Given the description of an element on the screen output the (x, y) to click on. 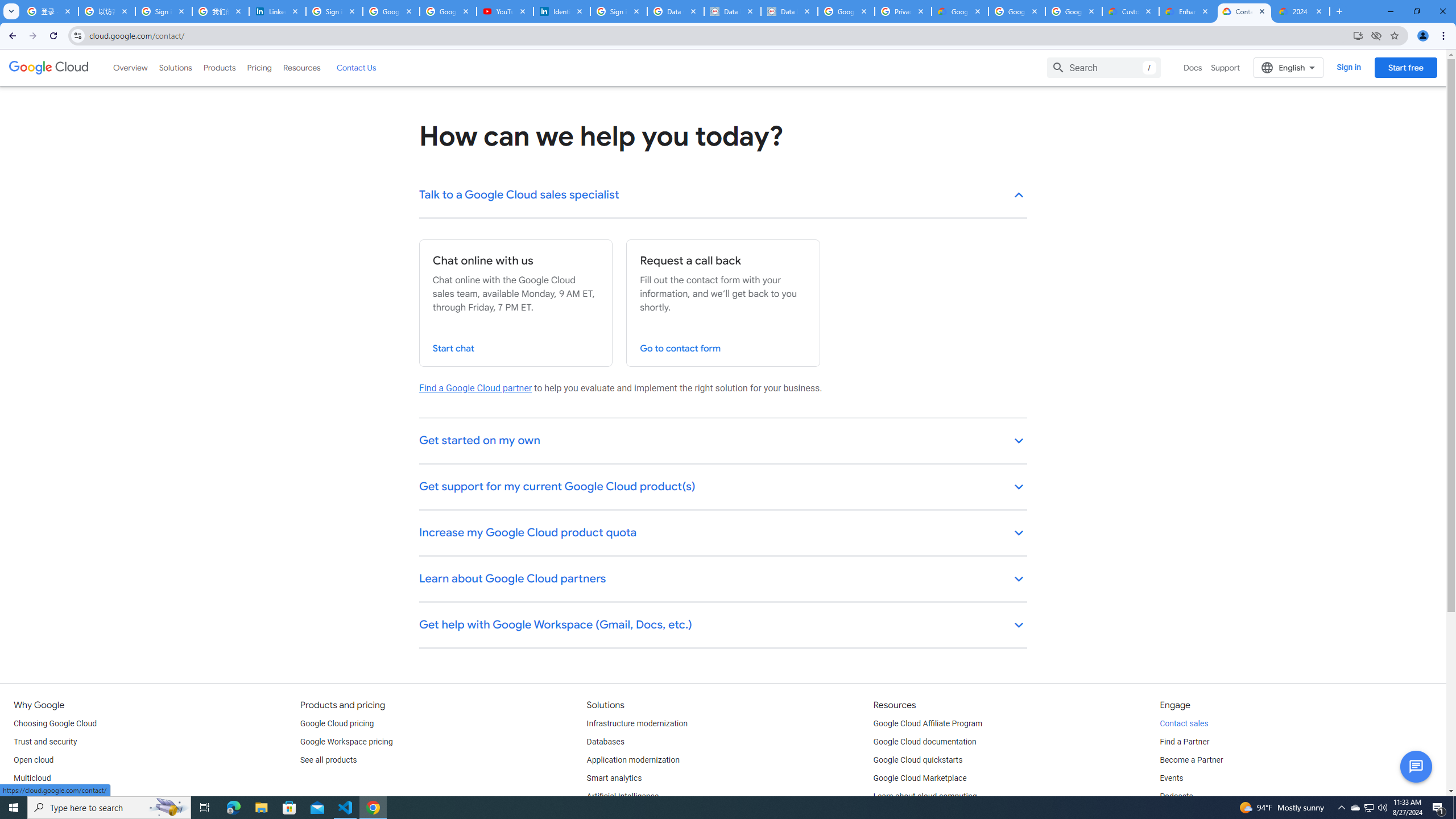
Customer Care | Google Cloud (1130, 11)
LinkedIn Privacy Policy (277, 11)
Find a Google Cloud partner (475, 387)
Find a Partner (1183, 742)
Start free (1405, 67)
Pricing (259, 67)
Enhanced Support | Google Cloud (1187, 11)
Increase my Google Cloud product quota keyboard_arrow_down (723, 533)
Trust and security (45, 742)
Contact sales (1183, 723)
